Given the description of an element on the screen output the (x, y) to click on. 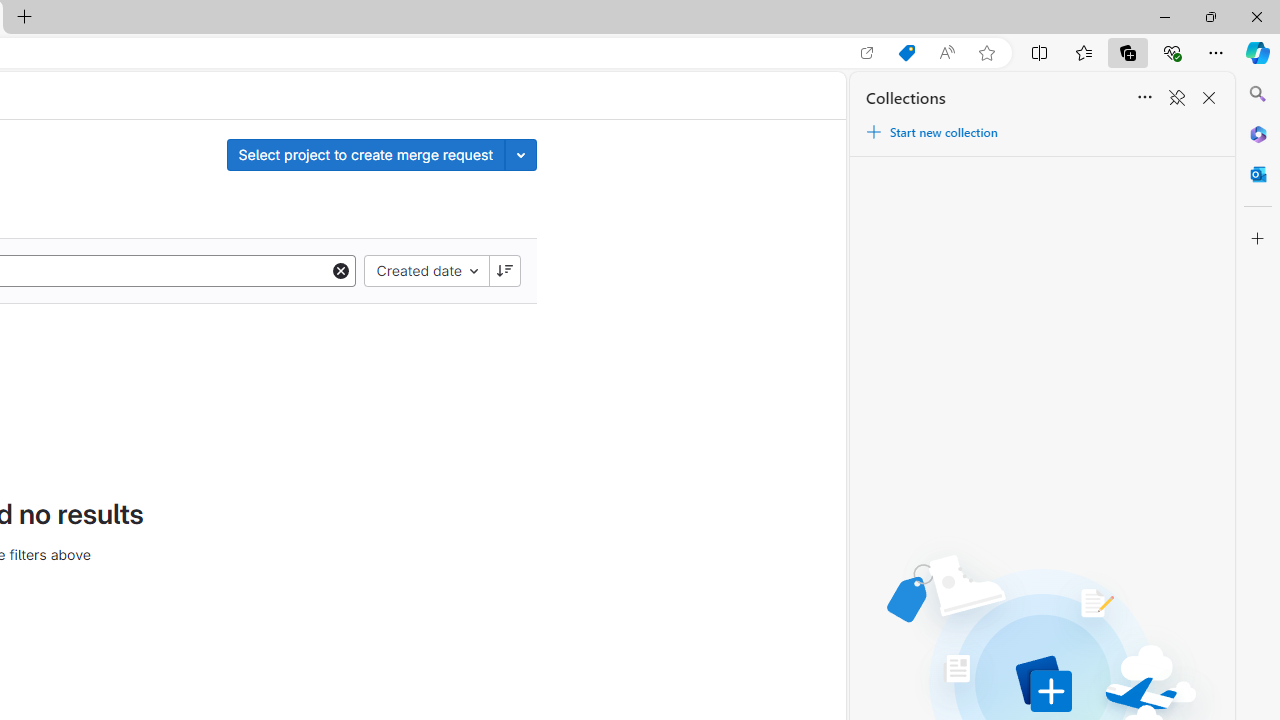
Sort direction (504, 270)
Start new collection (931, 132)
Sort (1144, 98)
Class: s16 gl-icon gl-button-icon clear-search-icon (340, 270)
Select project to create merge request (365, 154)
Toggle project select (521, 154)
